Given the description of an element on the screen output the (x, y) to click on. 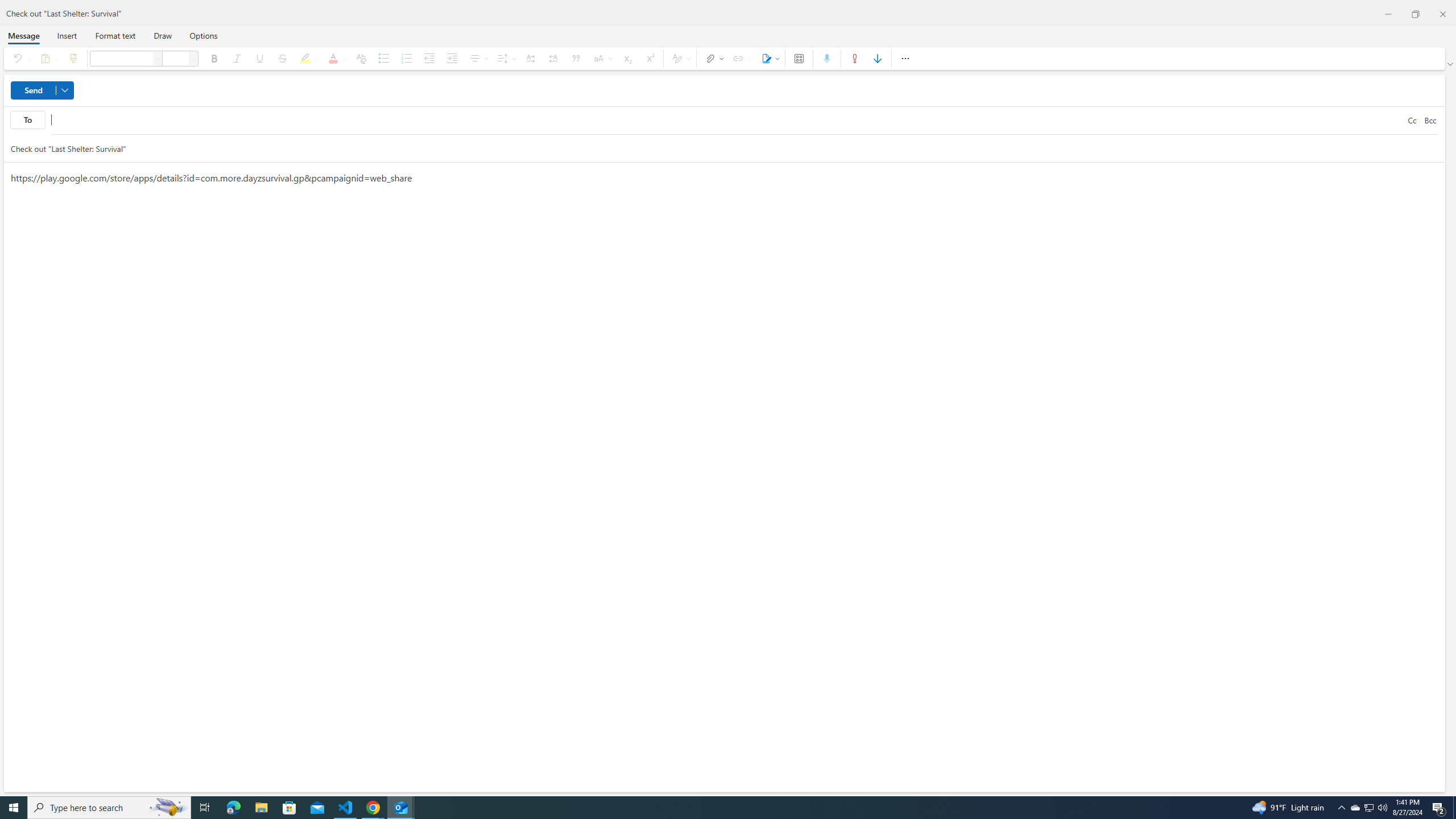
Italic (236, 58)
Font size (176, 58)
High importance (854, 58)
Subscript (626, 58)
Text highlight color (307, 58)
Apps (798, 58)
Format painter (73, 58)
Font (121, 58)
Insert (66, 35)
Increase indent (452, 58)
Paste (47, 58)
Dictate (826, 58)
Bullets (383, 58)
Superscript (649, 58)
Underline (259, 58)
